Given the description of an element on the screen output the (x, y) to click on. 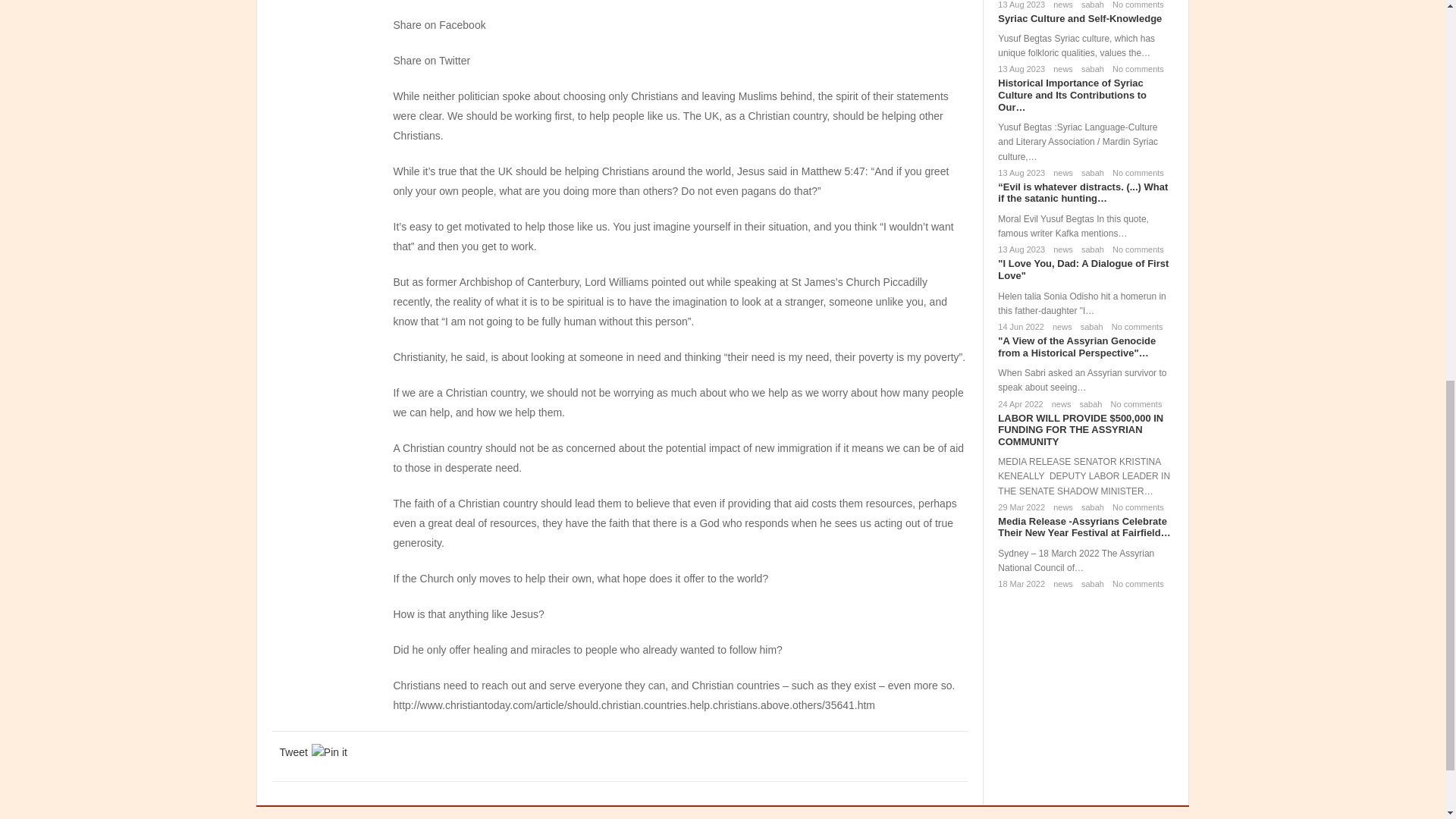
Pin it (329, 751)
I Love You, Dad: A Dialogue of First Love (1083, 269)
Tweet (293, 751)
